Given the description of an element on the screen output the (x, y) to click on. 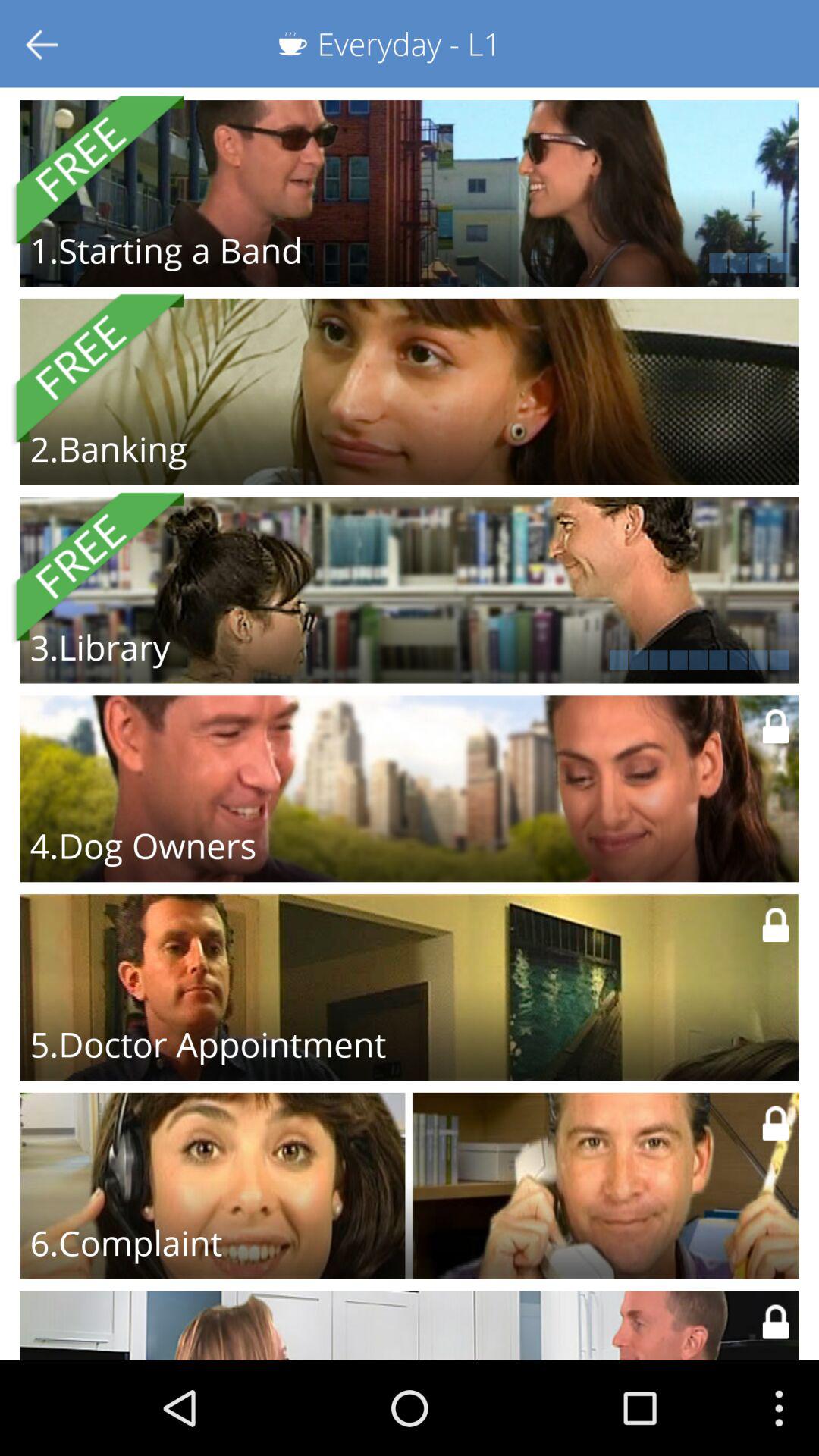
jump until the 2.banking icon (108, 448)
